Given the description of an element on the screen output the (x, y) to click on. 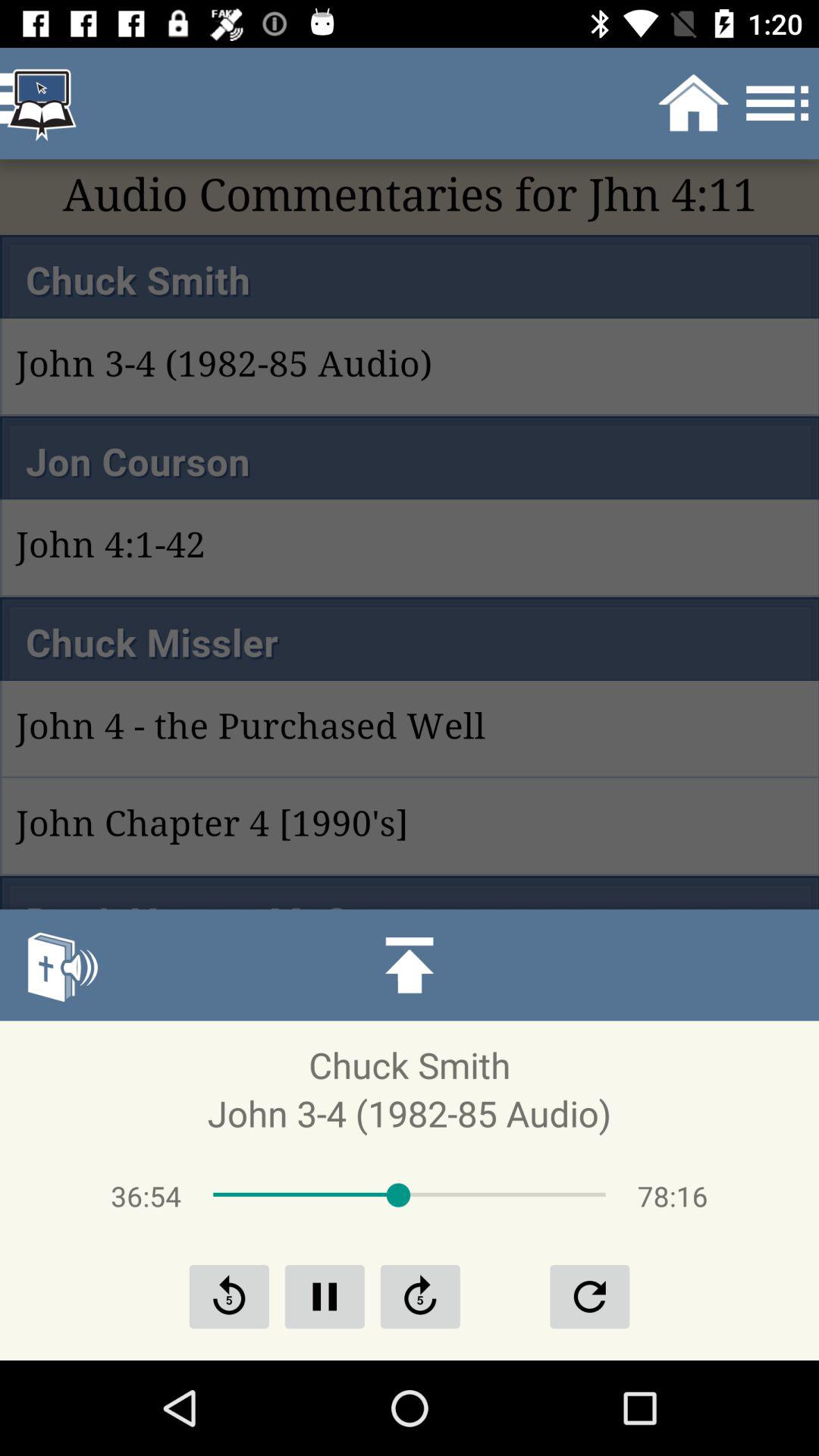
refresh this page (420, 1296)
